Given the description of an element on the screen output the (x, y) to click on. 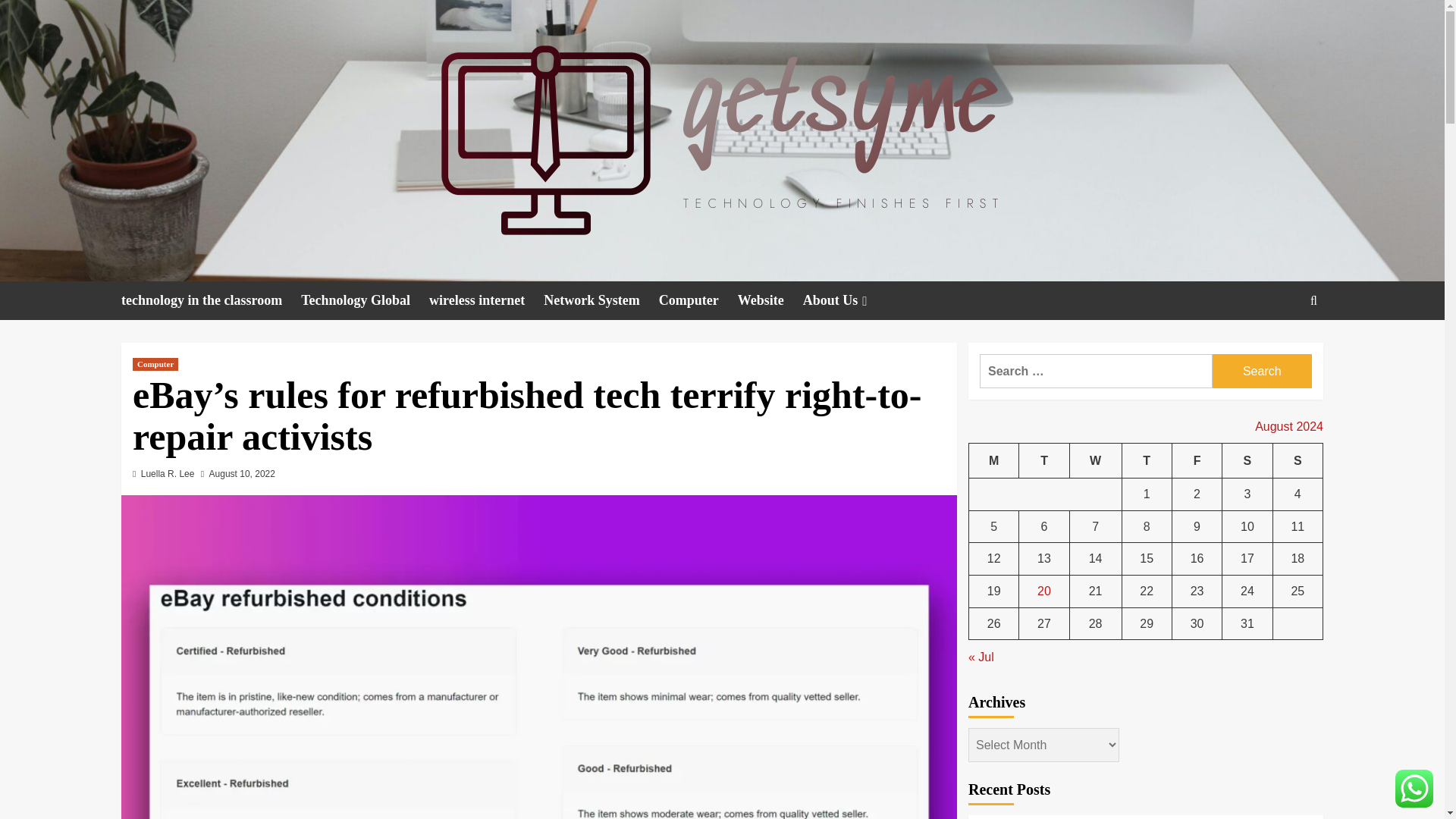
Network System (600, 300)
Saturday (1247, 460)
Sunday (1297, 460)
Friday (1196, 460)
About Us (847, 300)
Tuesday (1043, 460)
Thursday (1146, 460)
Computer (698, 300)
Search (1261, 370)
Luella R. Lee (168, 473)
